Given the description of an element on the screen output the (x, y) to click on. 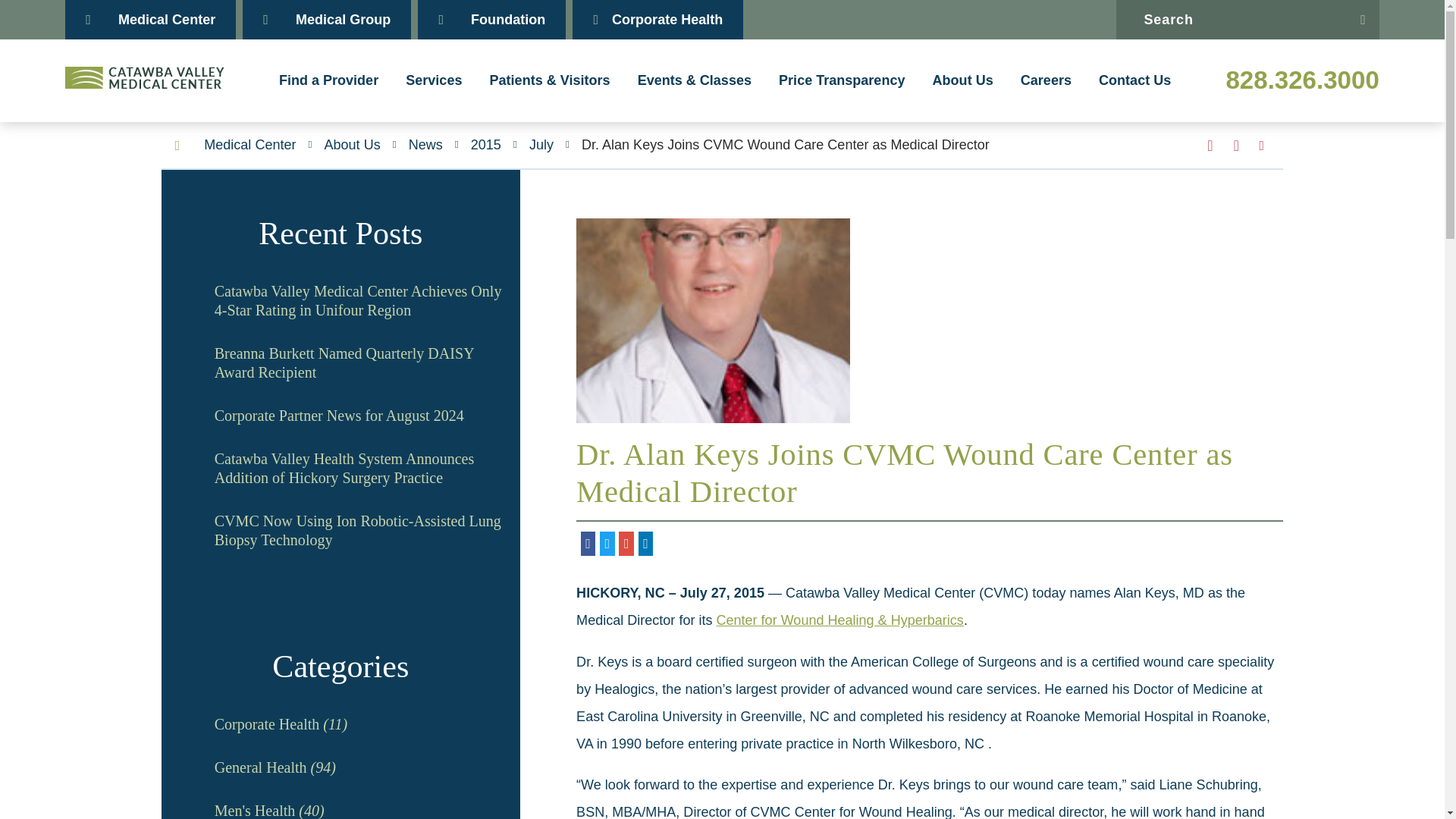
Foundation (491, 19)
Contact Us (1134, 79)
Services (433, 79)
Catawba Valley Medical Center (144, 77)
Careers (1045, 79)
Refer a Friend (1235, 145)
About Us (962, 79)
Find a Provider (327, 79)
Printer-Friendly Page (1261, 145)
Corporate Health (657, 19)
